Given the description of an element on the screen output the (x, y) to click on. 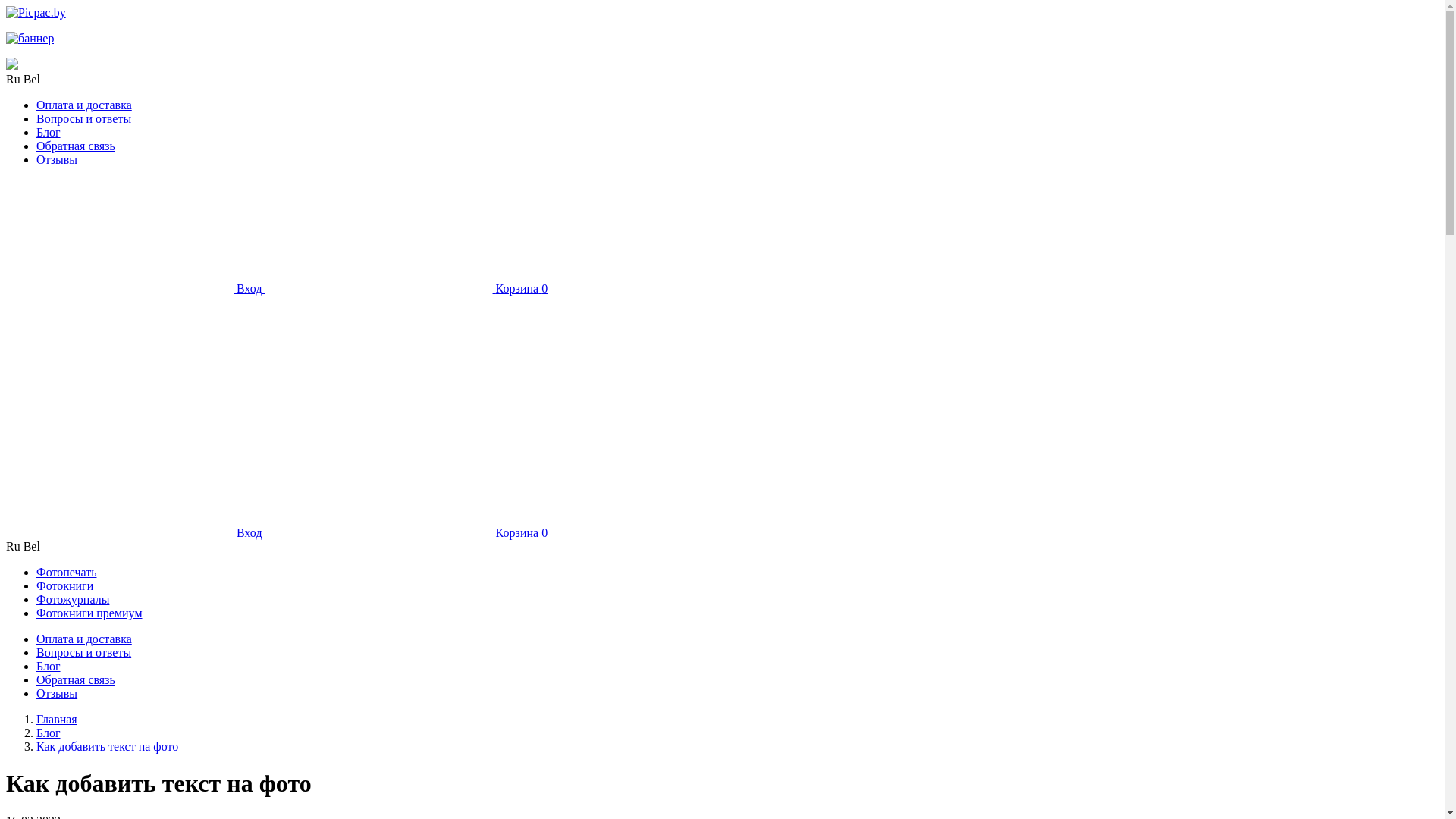
Picpac.by Element type: hover (35, 12)
